Given the description of an element on the screen output the (x, y) to click on. 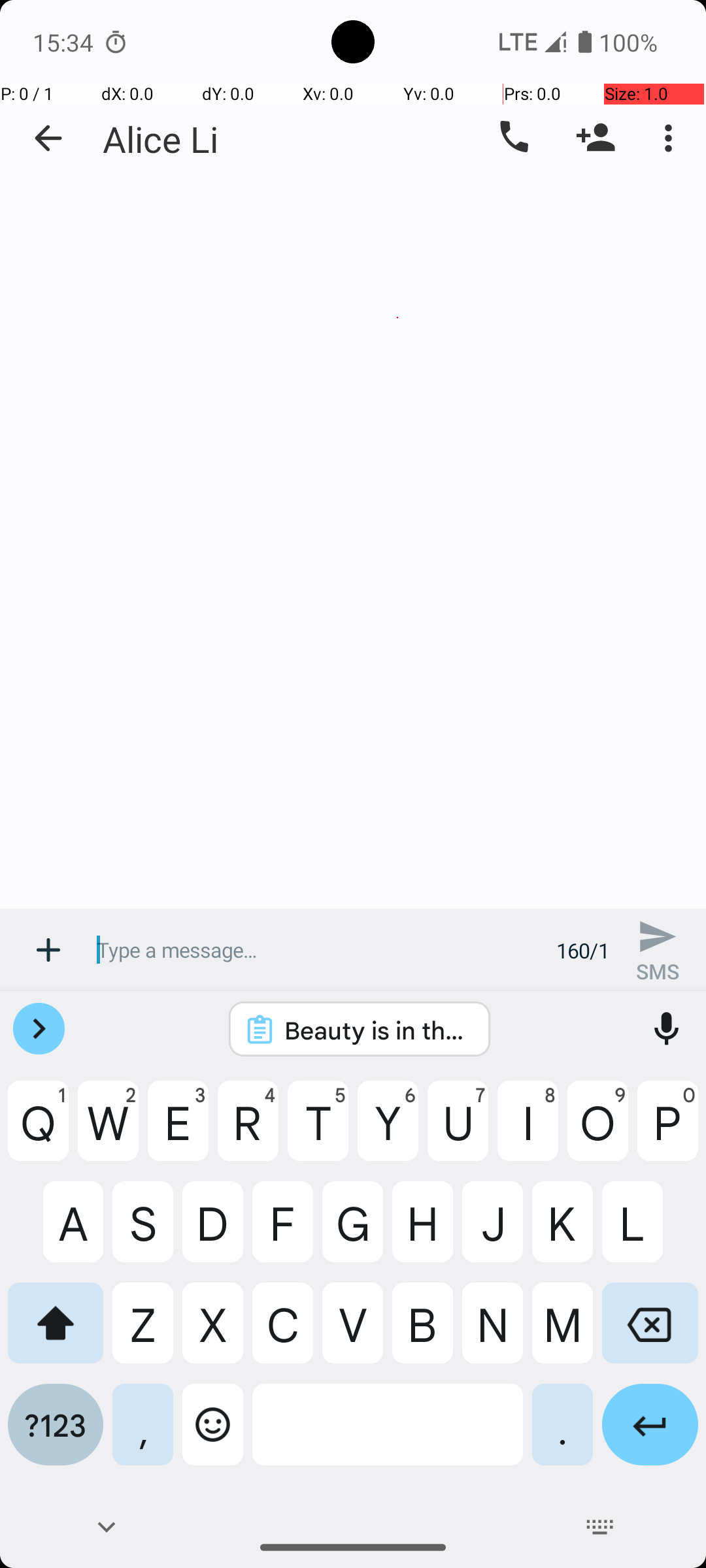
Alice Li Element type: android.widget.TextView (160, 138)
